Given the description of an element on the screen output the (x, y) to click on. 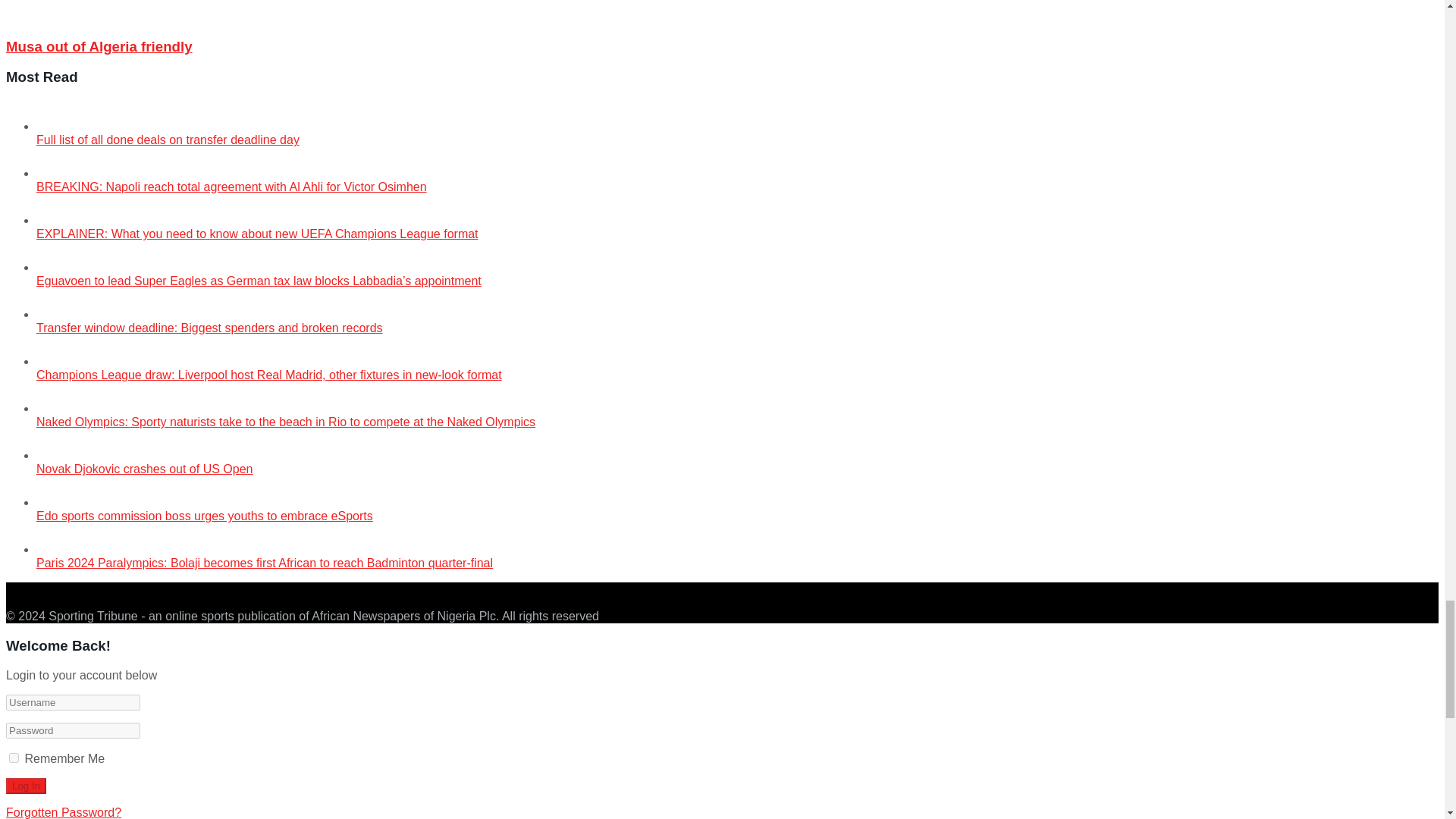
Log In (25, 785)
Full list of all done deals on transfer deadline day (167, 139)
Full list of all done deals on transfer deadline day (51, 125)
true (13, 757)
